Given the description of an element on the screen output the (x, y) to click on. 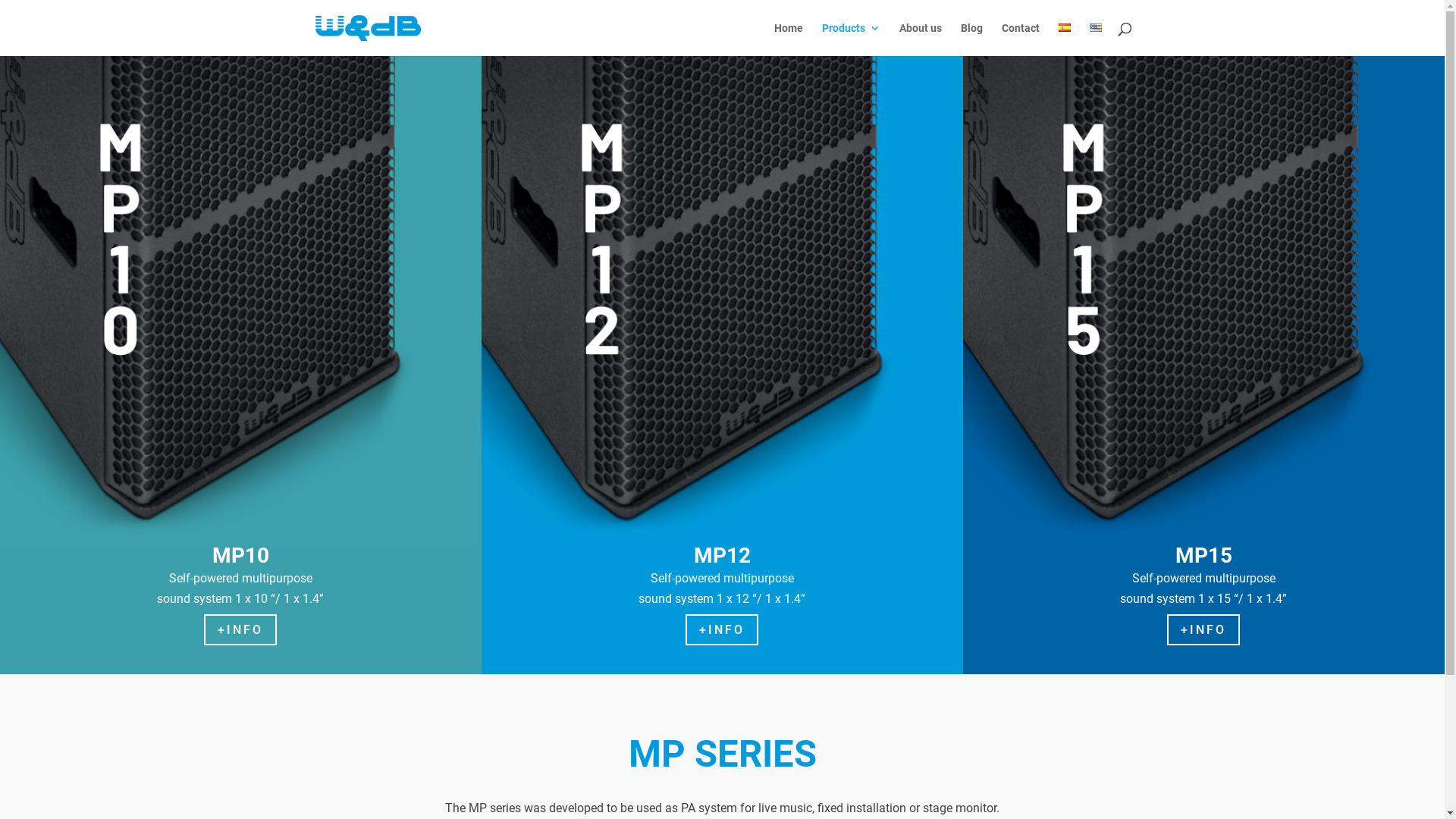
+INFO Element type: text (1203, 629)
About us Element type: text (920, 39)
Blog Element type: text (971, 39)
Products Element type: text (851, 39)
+INFO Element type: text (239, 629)
Contact Element type: text (1019, 39)
+INFO Element type: text (721, 629)
Home Element type: text (787, 39)
